Given the description of an element on the screen output the (x, y) to click on. 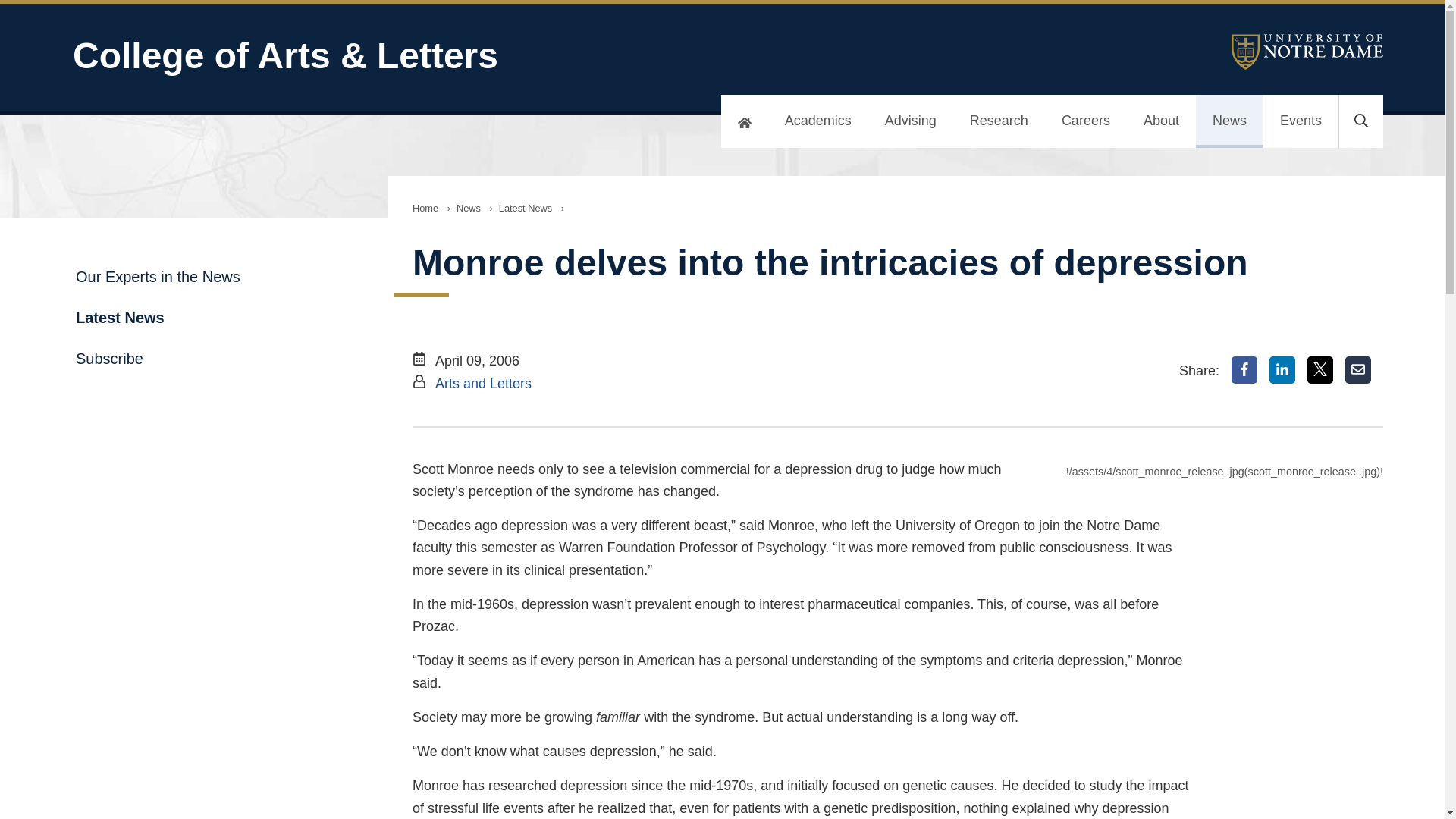
Careers (1085, 121)
Facebook (1244, 370)
Advising (910, 121)
Email (1358, 370)
News (1229, 121)
Latest News (525, 207)
Academics (817, 121)
About (1160, 121)
Home (425, 207)
Arts and Letters (483, 383)
LinkedIn (1282, 370)
Research (999, 121)
Events (1300, 121)
University of Notre Dame (1307, 51)
News (467, 207)
